Given the description of an element on the screen output the (x, y) to click on. 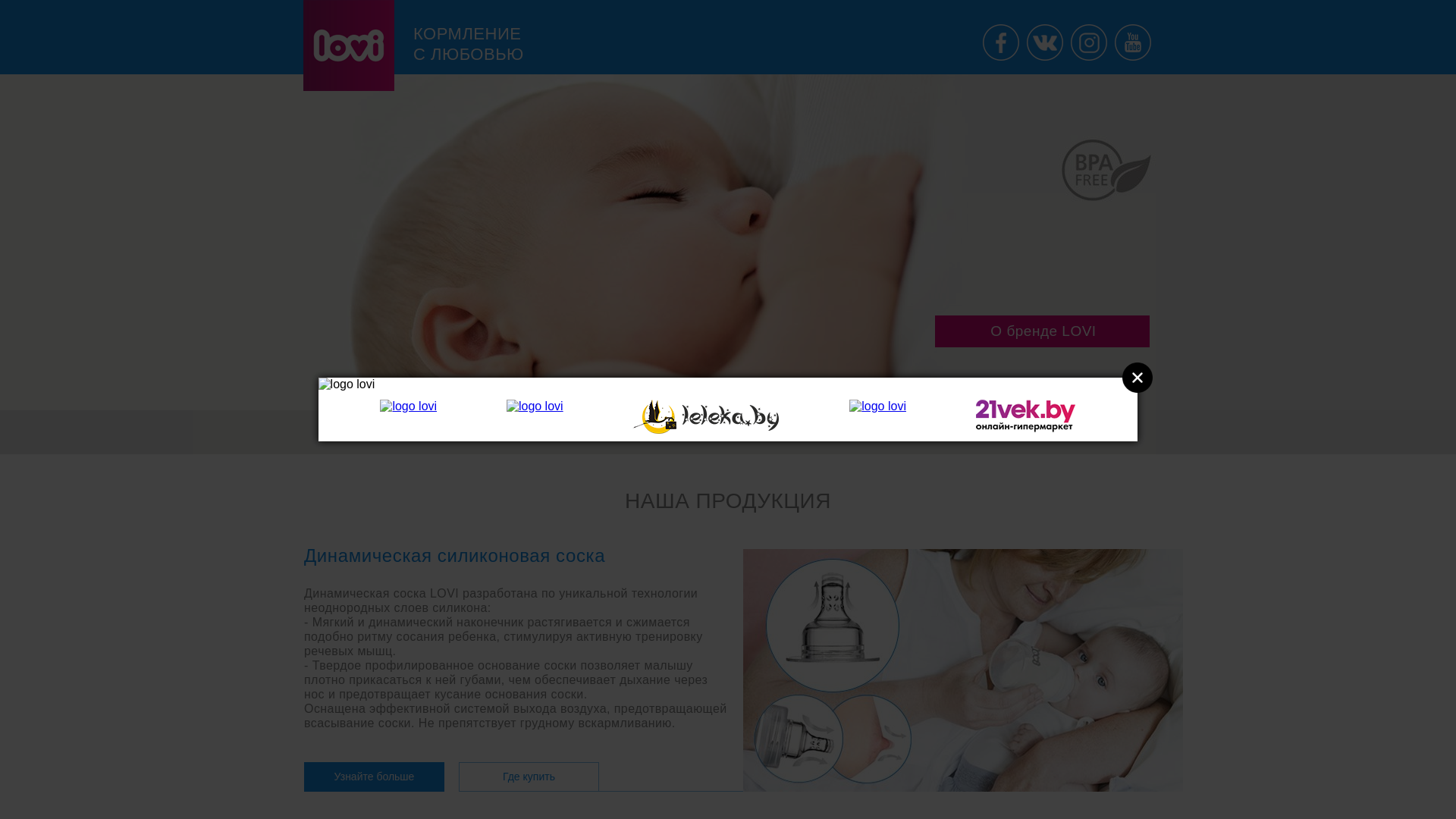
Close Element type: text (1137, 377)
